Given the description of an element on the screen output the (x, y) to click on. 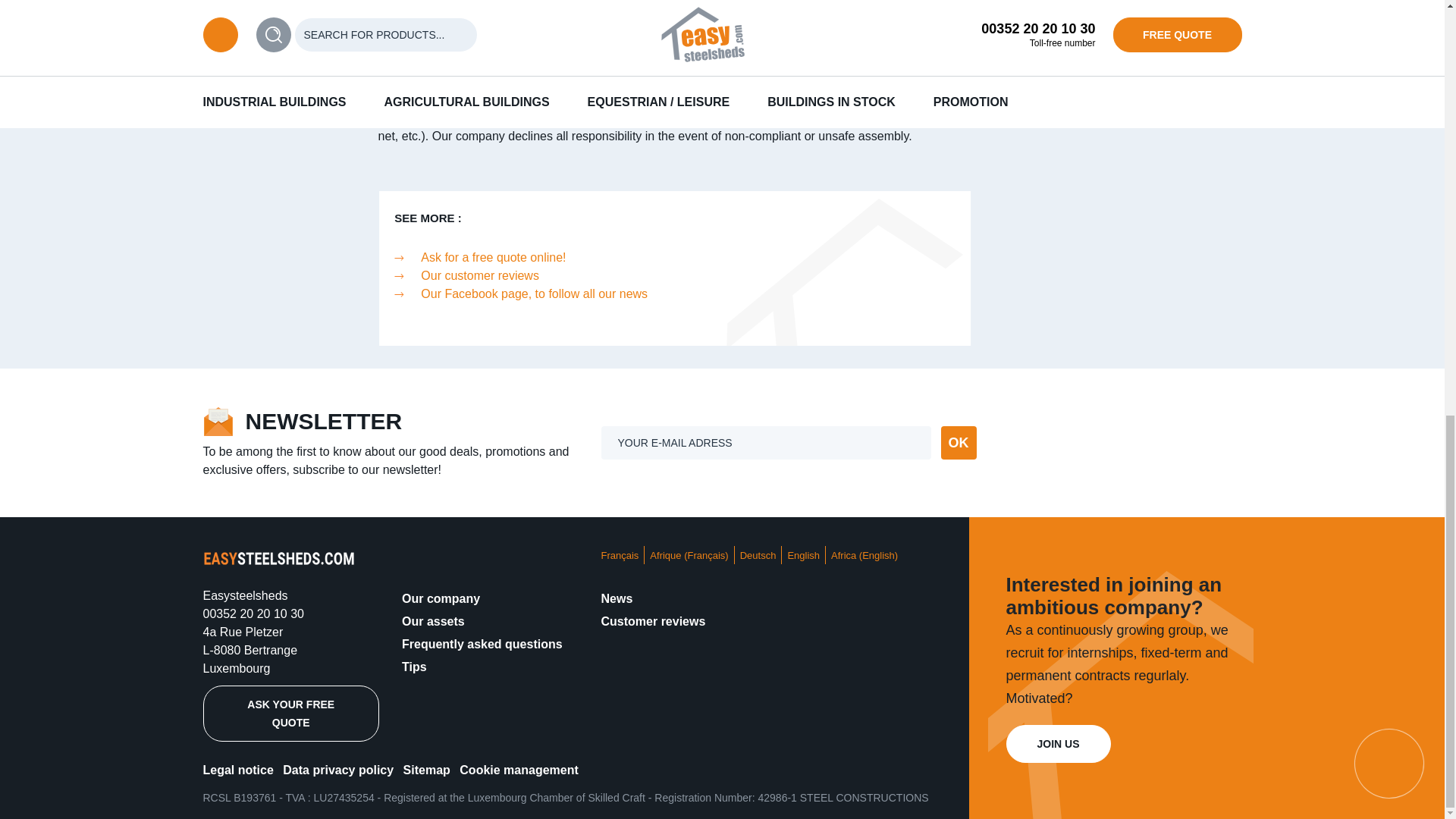
JOIN US (1057, 743)
Legal notice (238, 769)
Deutsch (757, 555)
ASK YOUR FREE QUOTE (291, 713)
Sitemap (426, 769)
Our company (440, 598)
Frequently asked questions (481, 644)
Customer reviews (651, 621)
Data privacy policy (337, 769)
Our Facebook page, to follow all our news (533, 293)
